Given the description of an element on the screen output the (x, y) to click on. 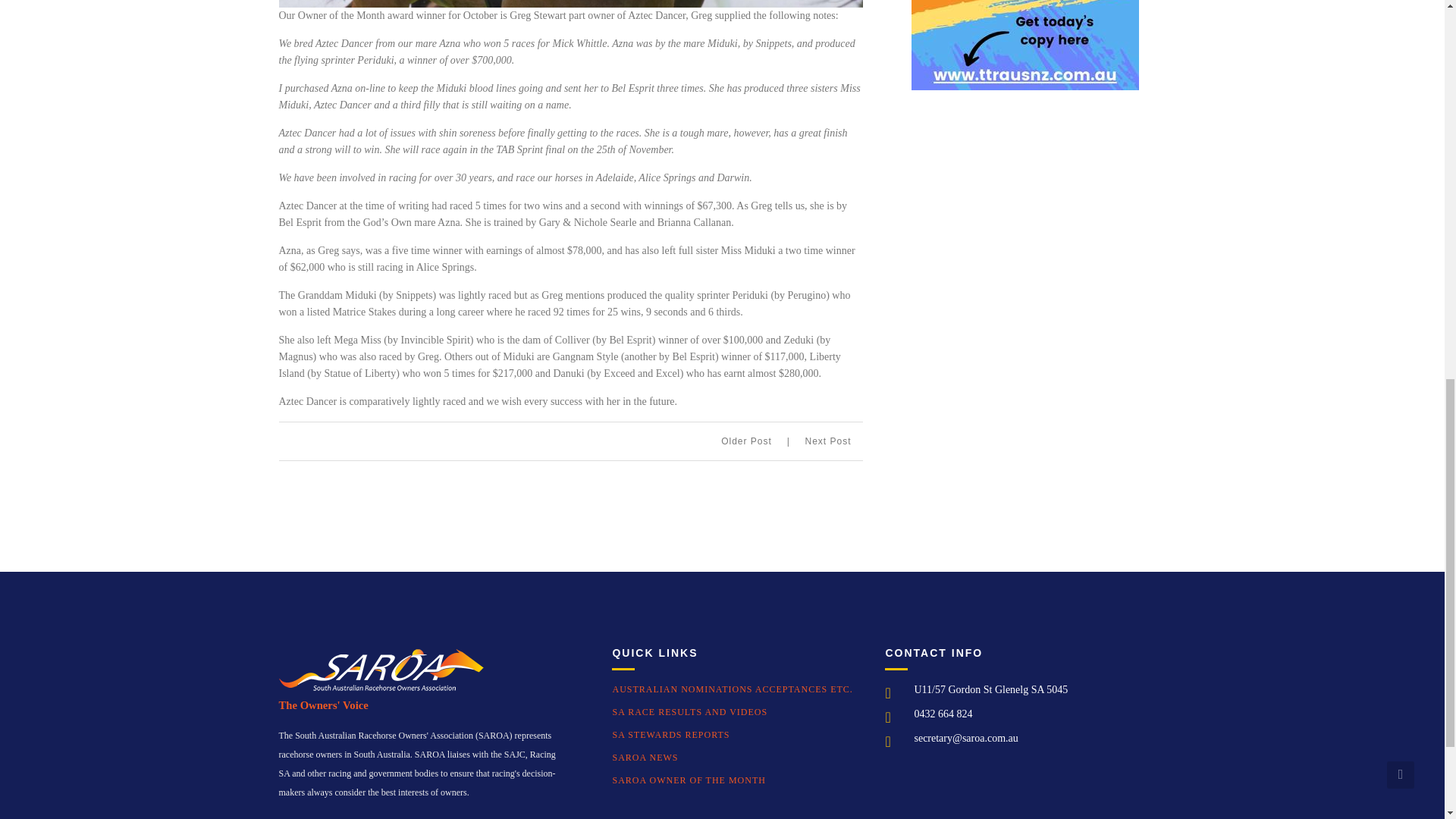
SA STEWARDS REPORTS (670, 734)
Older Post (755, 440)
SAROA OWNER OF THE MONTH (688, 779)
AUSTRALIAN NOMINATIONS ACCEPTANCES ETC. (731, 688)
Next Post (827, 440)
SA RACE RESULTS AND VIDEOS (689, 711)
SAROA NEWS (644, 757)
